Given the description of an element on the screen output the (x, y) to click on. 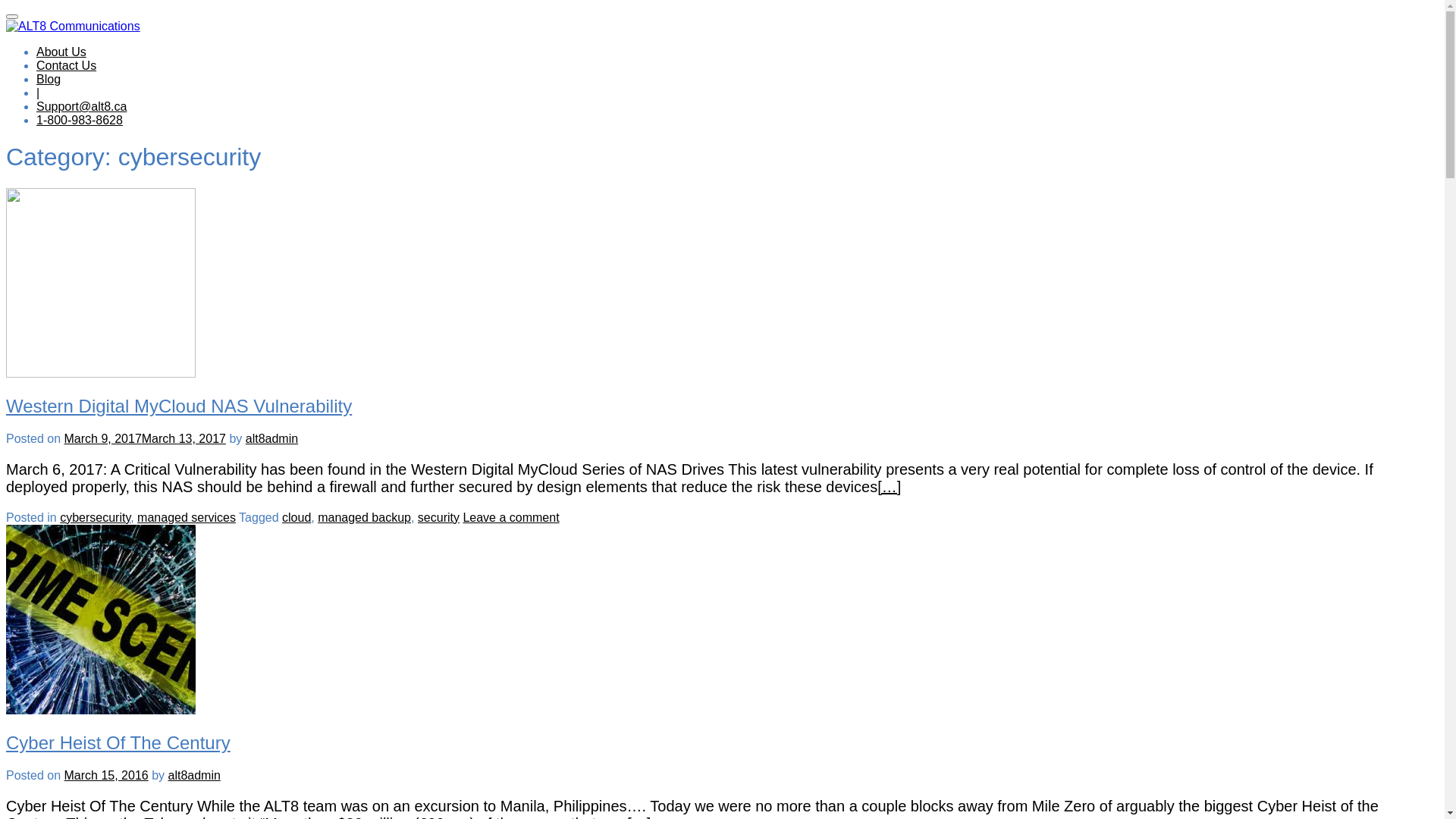
Cyber Heist Of The Century Element type: hover (100, 709)
alt8admin Element type: text (271, 438)
cybersecurity Element type: text (94, 517)
1-800-983-8628 Element type: text (79, 119)
managed services Element type: text (186, 517)
Cyber Heist Of The Century Element type: text (118, 742)
Menu Element type: text (12, 16)
Blog Element type: text (48, 78)
Leave a comment Element type: text (510, 517)
alt8admin Element type: text (193, 774)
Western Digital MyCloud NAS Vulnerability Element type: hover (100, 373)
About Us Element type: text (61, 51)
March 15, 2016 Element type: text (105, 774)
cloud Element type: text (296, 517)
Western Digital MyCloud NAS Vulnerability Element type: text (178, 405)
Support@alt8.ca Element type: text (81, 106)
March 9, 2017March 13, 2017 Element type: text (144, 438)
Contact Us Element type: text (66, 65)
managed backup Element type: text (364, 517)
| Element type: text (37, 92)
security Element type: text (438, 517)
